Given the description of an element on the screen output the (x, y) to click on. 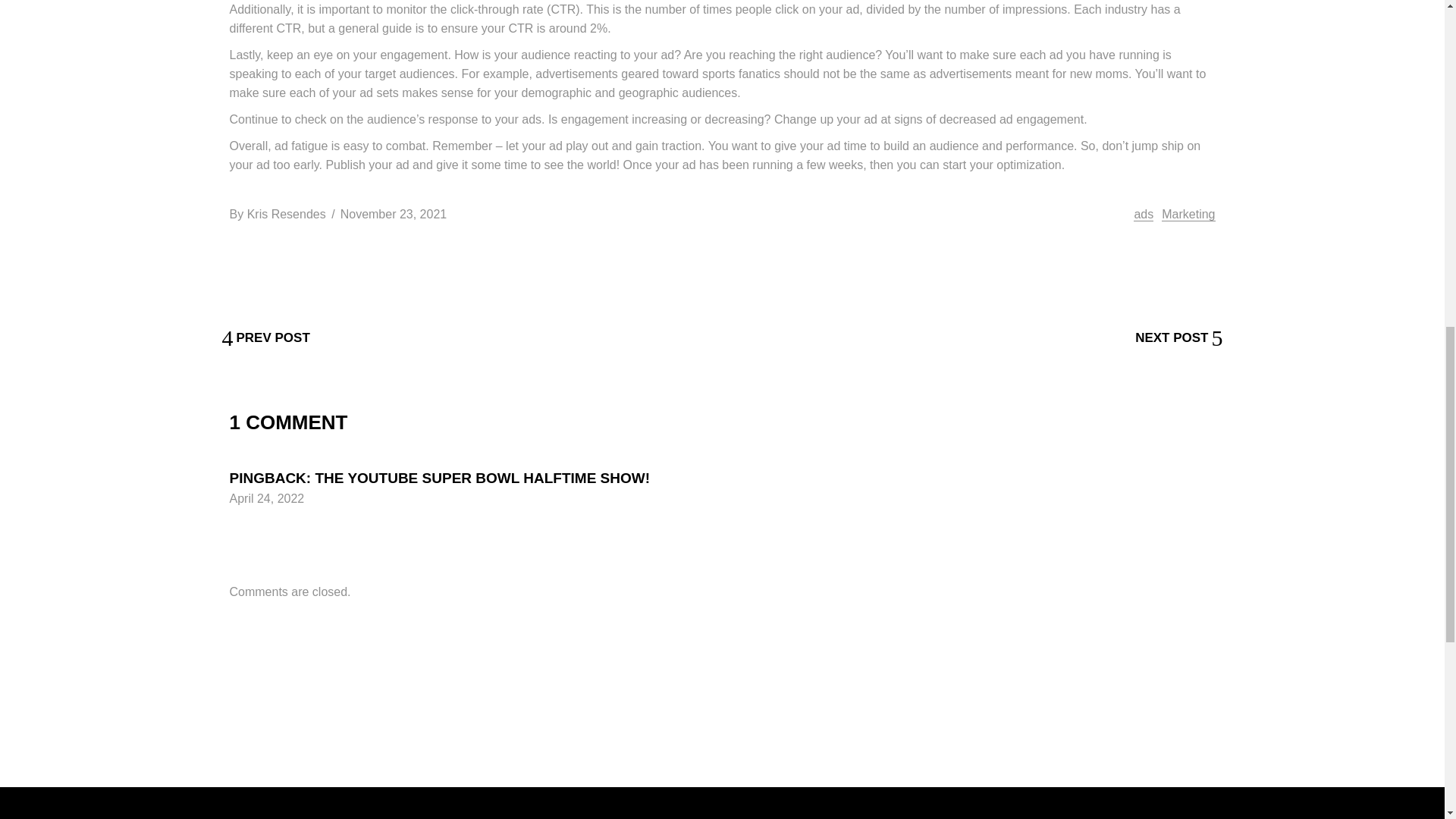
Marketing (1187, 213)
Kris Resendes (286, 214)
PREV POST (264, 337)
November 23, 2021 (393, 214)
NEXT POST (1179, 337)
ads (1143, 213)
